Given the description of an element on the screen output the (x, y) to click on. 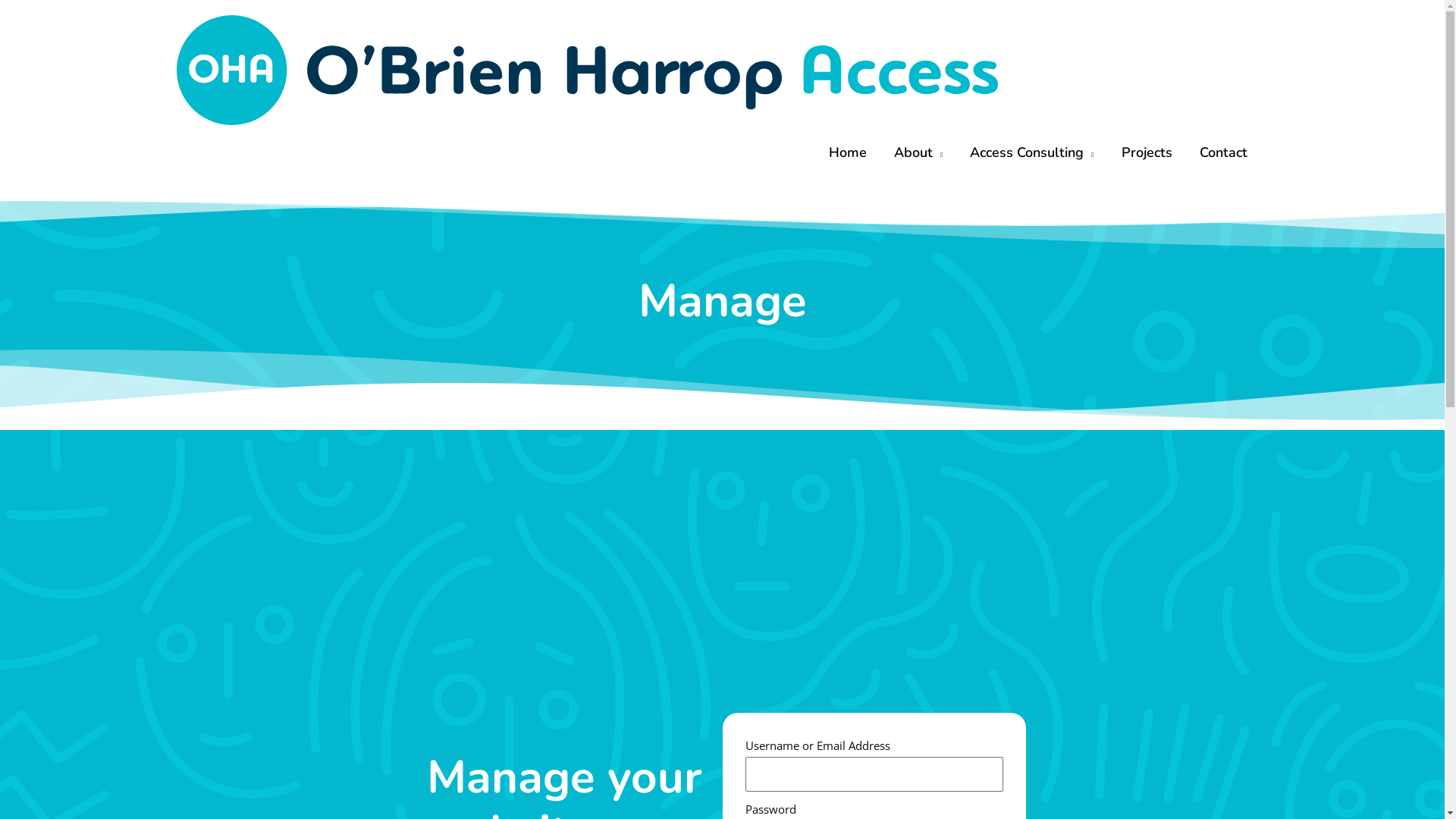
Projects Element type: text (1146, 152)
Home Element type: text (847, 152)
Contact Element type: text (1223, 152)
About Element type: text (918, 152)
Access Consulting Element type: text (1031, 152)
